Given the description of an element on the screen output the (x, y) to click on. 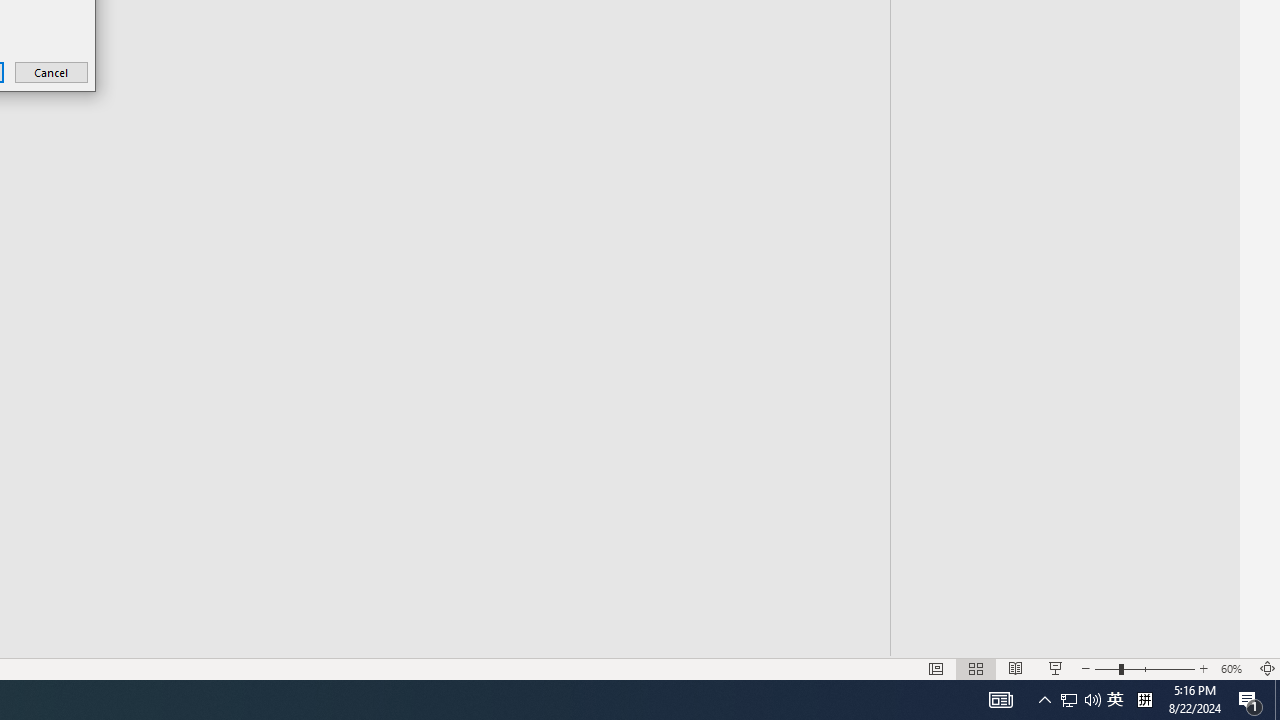
Zoom 60% (1234, 668)
